Given the description of an element on the screen output the (x, y) to click on. 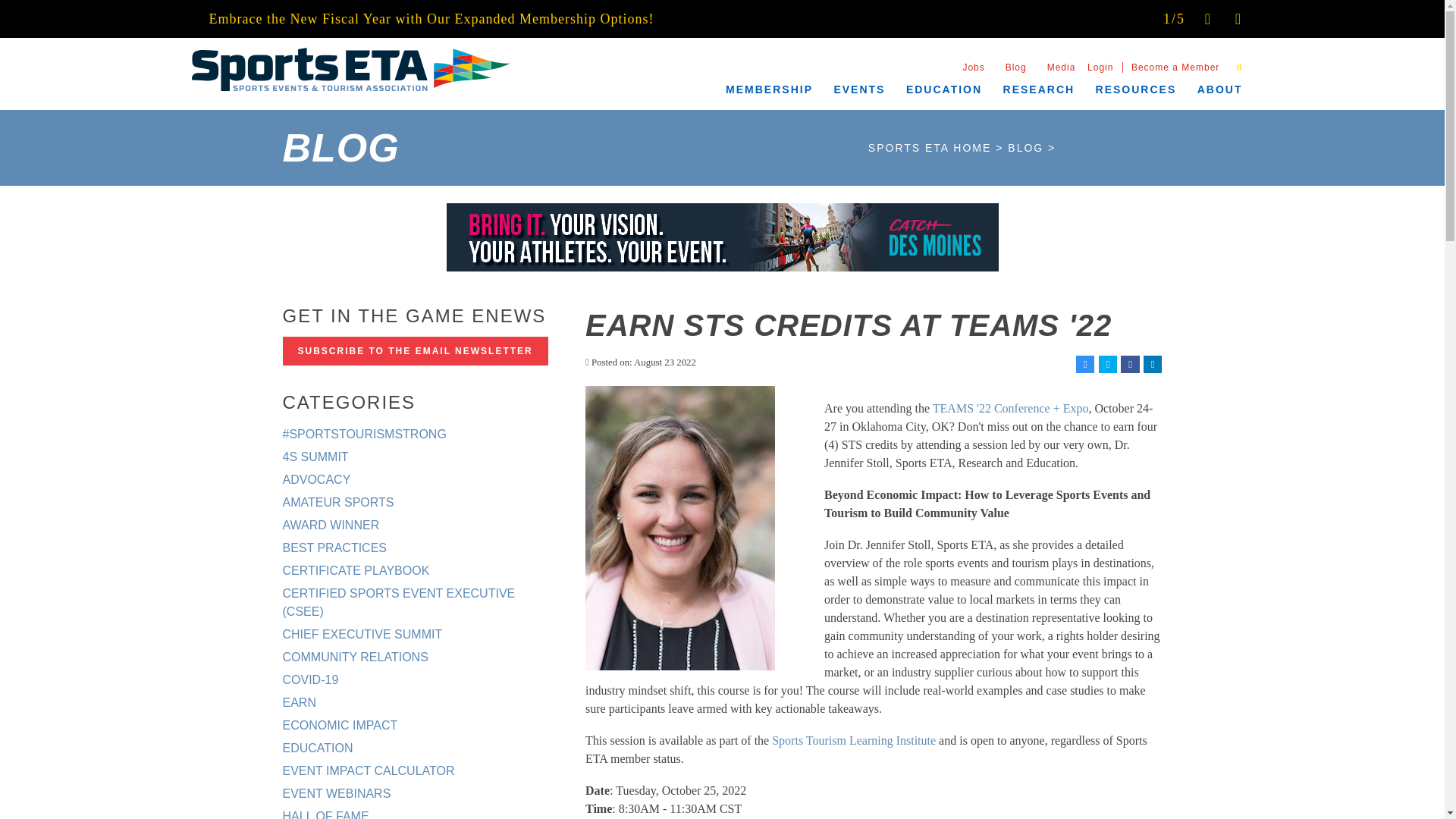
Media (1061, 67)
Blog (1015, 67)
Jobs (973, 67)
EVENTS (860, 91)
Become a Member (1174, 67)
Login (1100, 67)
MEMBERSHIP (770, 91)
